Given the description of an element on the screen output the (x, y) to click on. 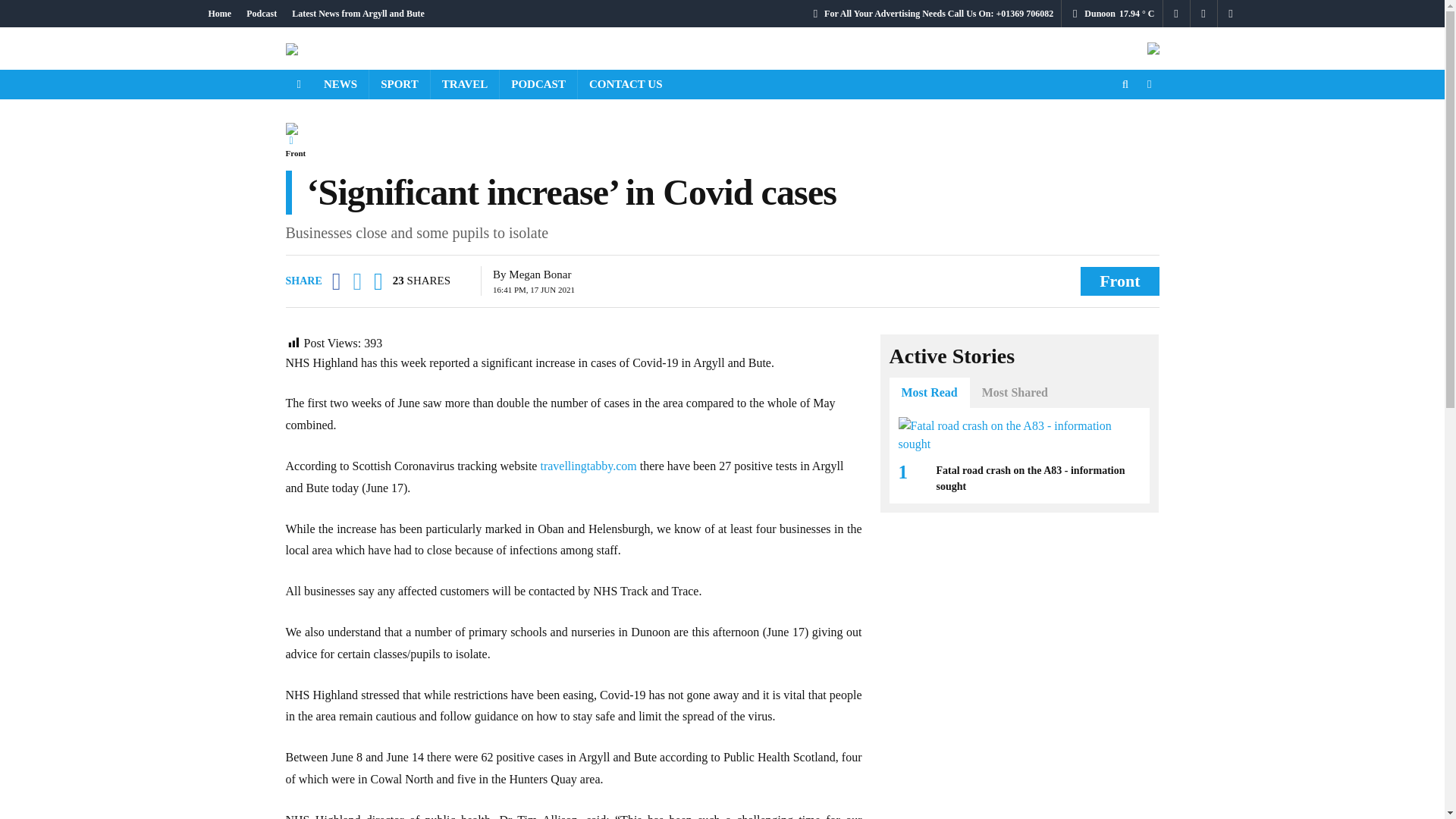
SPORT (399, 84)
PODCAST (537, 84)
Latest News from Argyll and Bute (357, 13)
TRAVEL (464, 84)
Front (295, 152)
Home (219, 13)
NEWS (340, 84)
Front (1119, 280)
travellingtabby.com (588, 465)
Podcast (260, 13)
CONTACT US (626, 84)
